Given the description of an element on the screen output the (x, y) to click on. 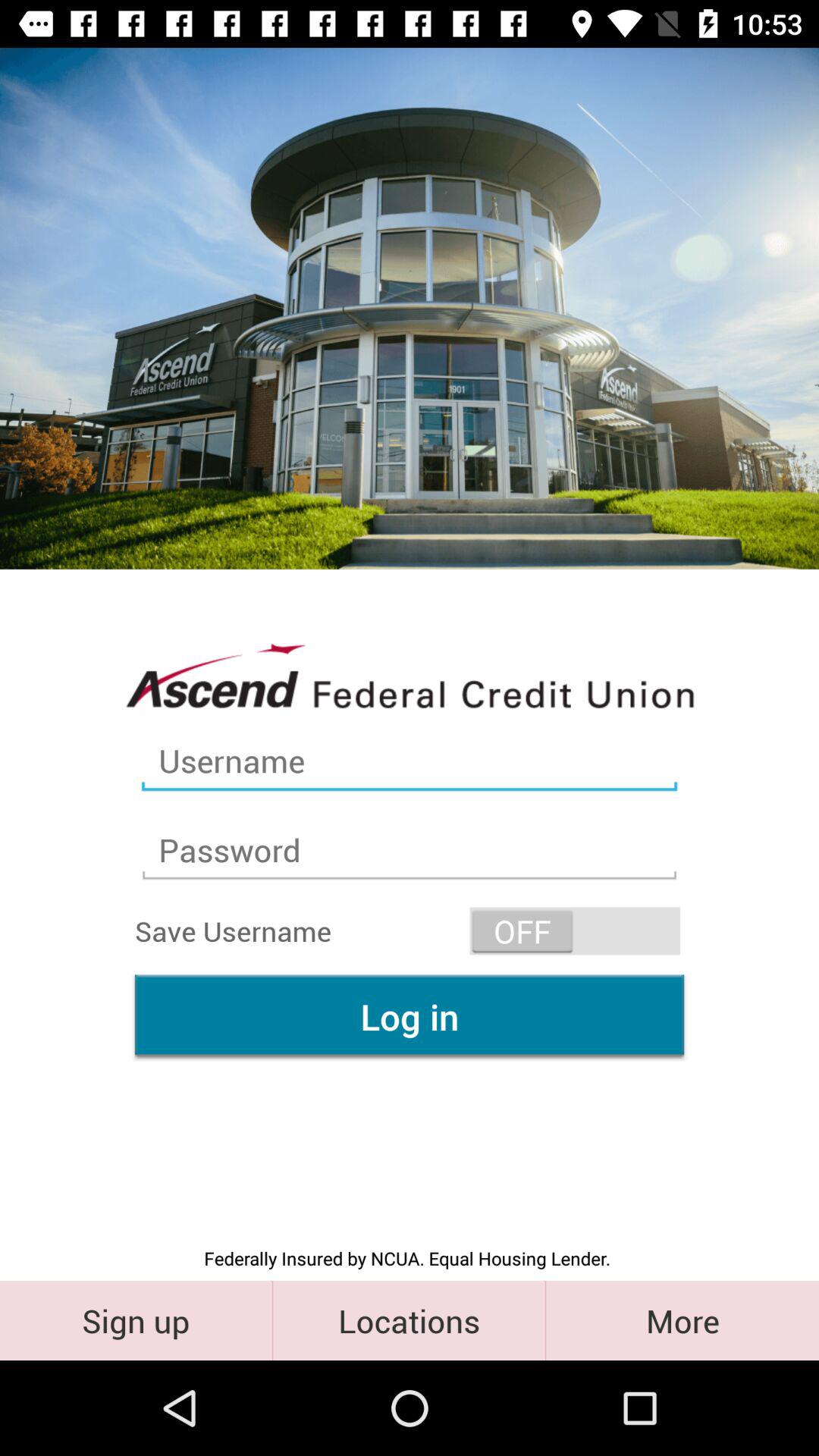
launch the icon to the right of save username icon (574, 930)
